Given the description of an element on the screen output the (x, y) to click on. 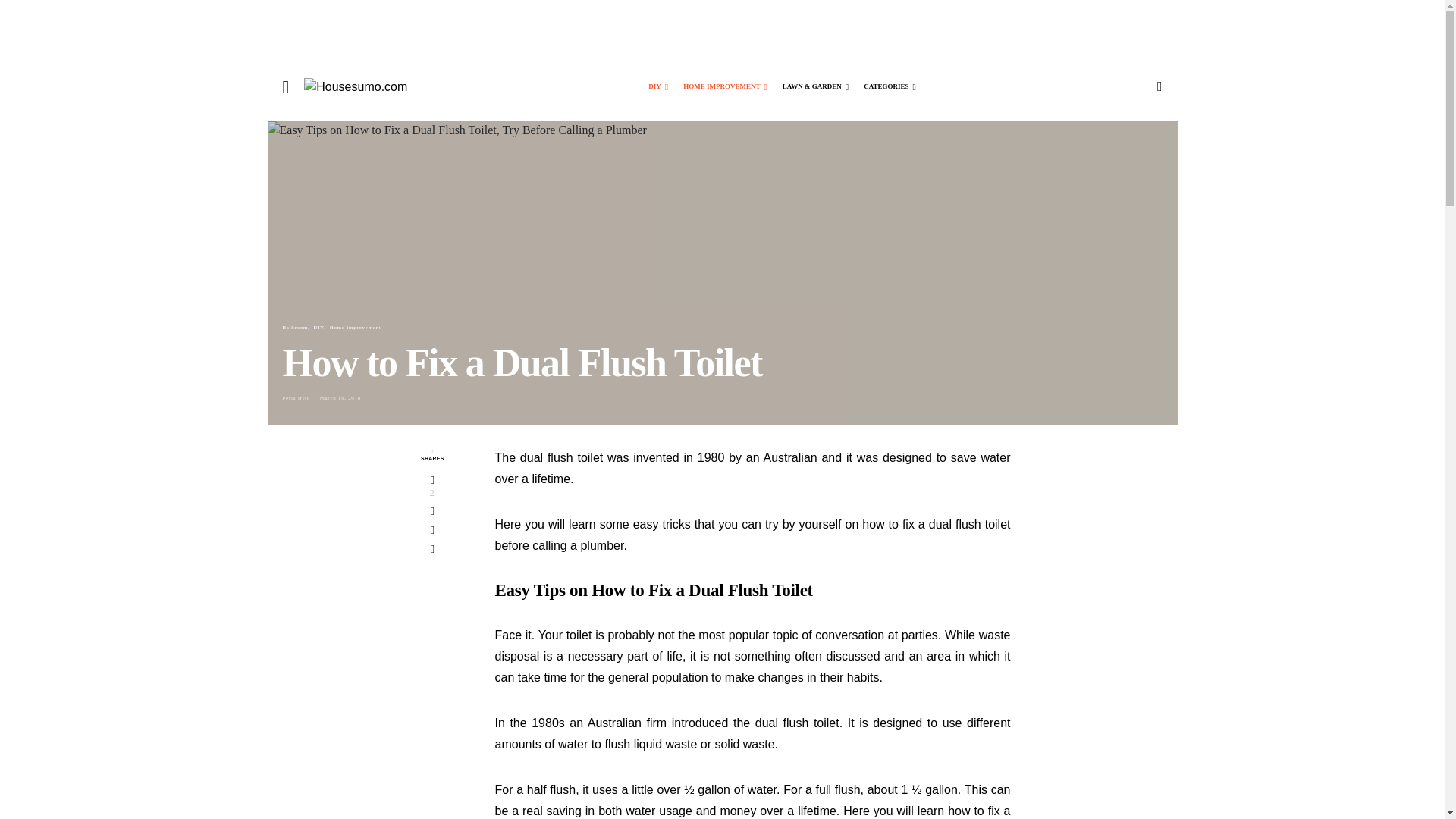
View all posts by Perla Irish (296, 396)
